Given the description of an element on the screen output the (x, y) to click on. 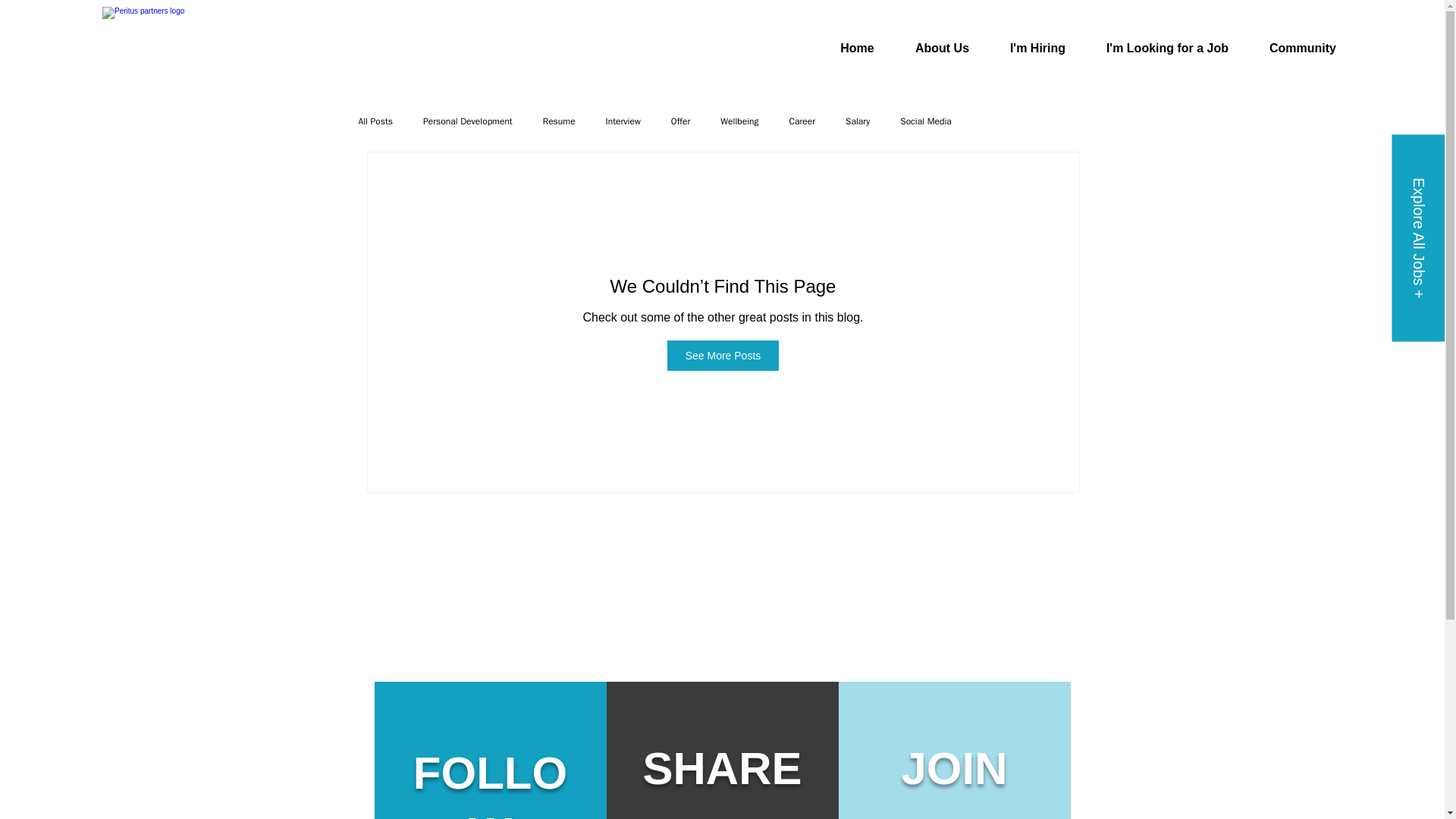
See More Posts (722, 355)
Interview (622, 121)
Offer (680, 121)
Resume (559, 121)
Wellbeing (739, 121)
About Us (942, 48)
Home (857, 48)
I'm Hiring (1038, 48)
All Posts (375, 121)
Career (802, 121)
